Given the description of an element on the screen output the (x, y) to click on. 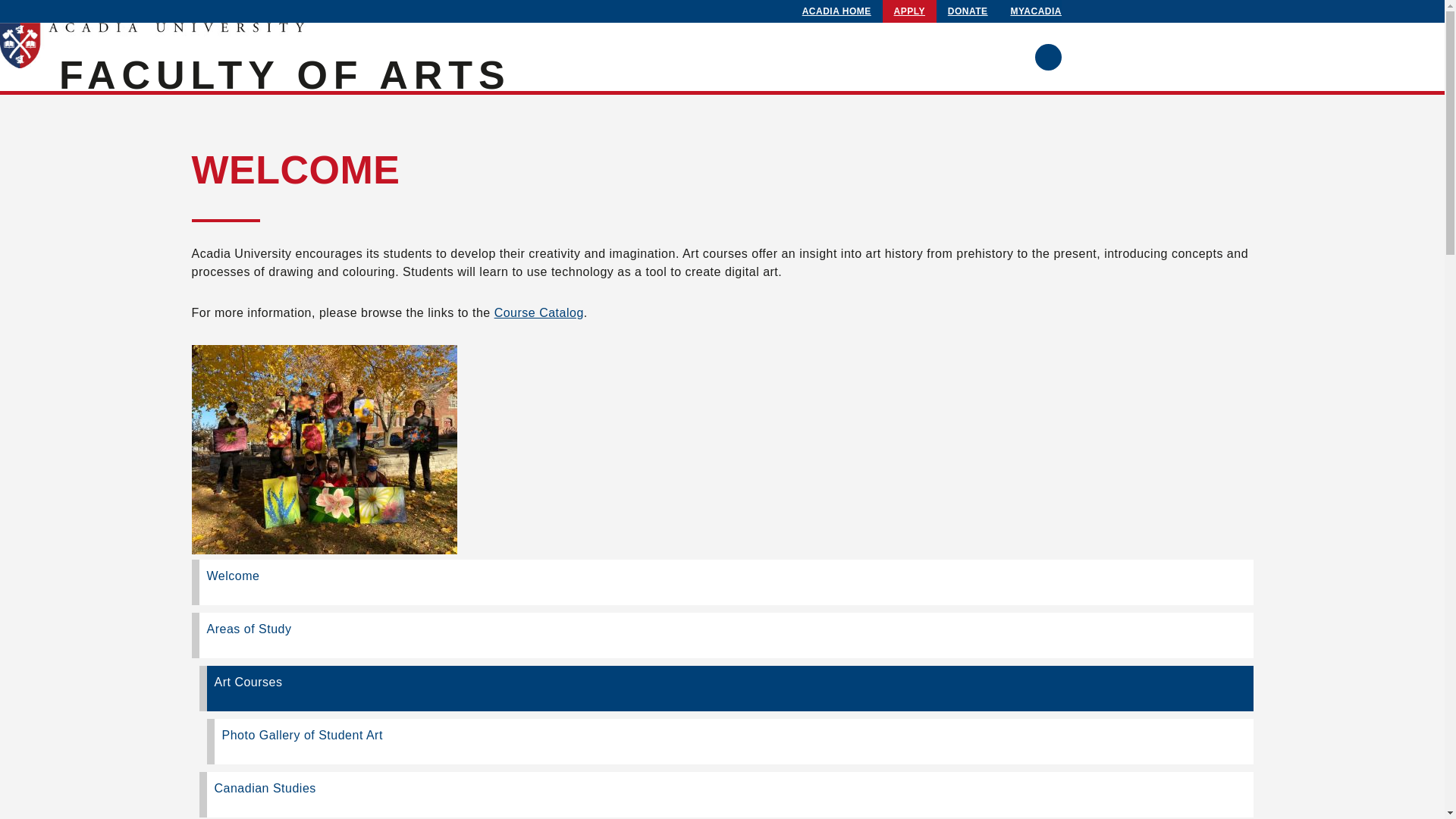
Welcome Element type: text (721, 582)
Course Catalog Element type: text (538, 312)
ACADIA HOME Element type: text (836, 11)
Canadian Studies Element type: text (725, 794)
DONATE Element type: text (967, 11)
MYACADIA Element type: text (1035, 11)
Photo Gallery of Student Art Element type: text (729, 741)
Areas of Study Element type: text (721, 635)
APPLY Element type: text (909, 11)
FACULTY OF ARTS Element type: text (285, 75)
